Given the description of an element on the screen output the (x, y) to click on. 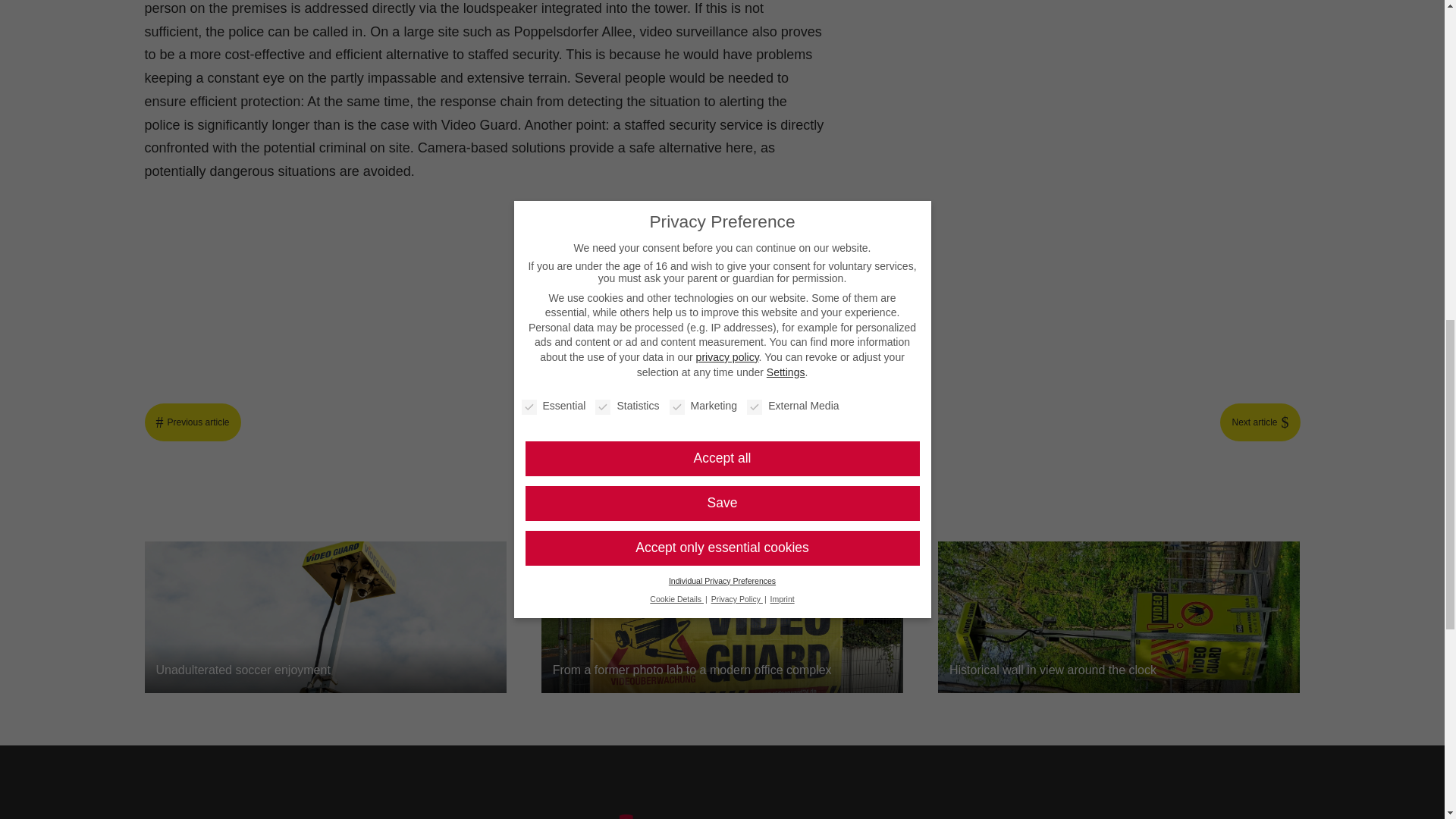
Unadulterated soccer enjoyment (325, 616)
Historical wall in view around the clock (1118, 616)
VIDEO GUARD (722, 816)
From a former photo lab to a modern office complex (722, 616)
